Given the description of an element on the screen output the (x, y) to click on. 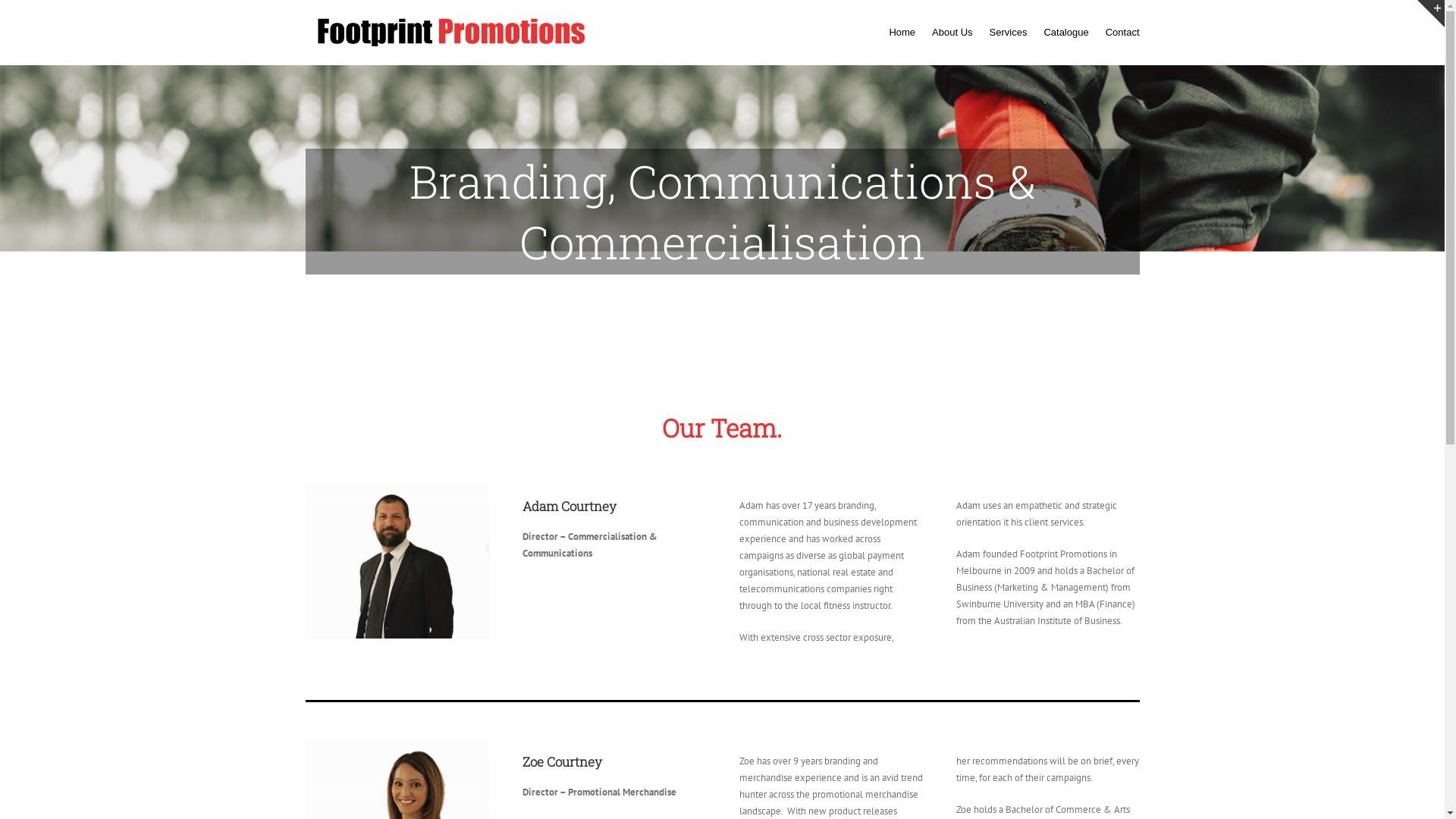
Home Element type: text (901, 32)
Contact Element type: text (1122, 32)
Catalogue Element type: text (1065, 32)
About Us Element type: text (951, 32)
MasterPromoAd Element type: hover (396, 561)
Toggle Sliding Bar Area Element type: text (1430, 13)
Services Element type: text (1008, 32)
